Given the description of an element on the screen output the (x, y) to click on. 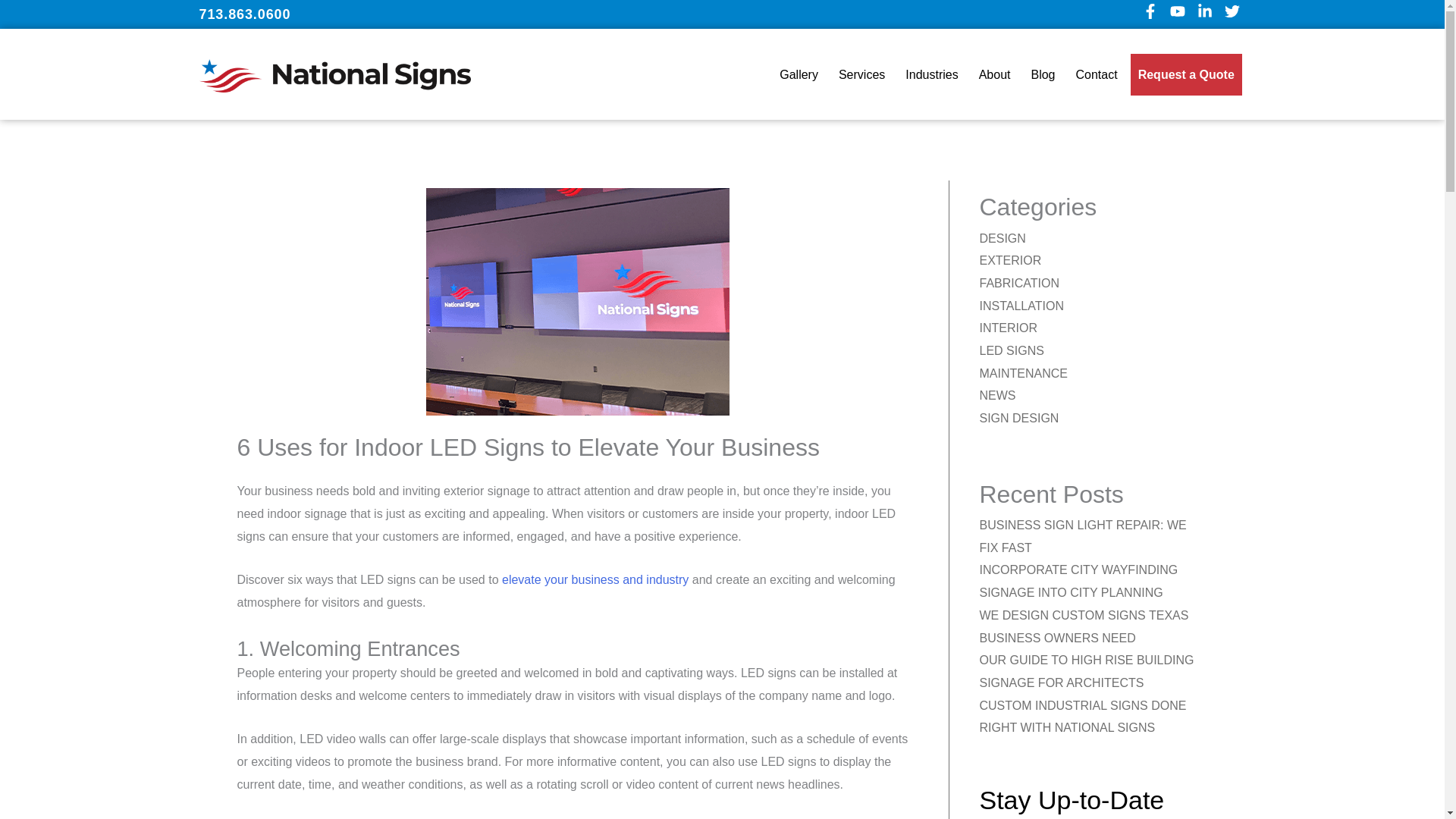
Youtube (1180, 14)
Gallery (798, 74)
Request a Quote (1186, 74)
Contact (1096, 74)
Facebook-f (1152, 14)
Linkedin-in (1206, 14)
Twitter (1234, 14)
About (994, 74)
Services (861, 74)
Industries (931, 74)
713.863.0600 (243, 14)
Blog (1042, 74)
